Given the description of an element on the screen output the (x, y) to click on. 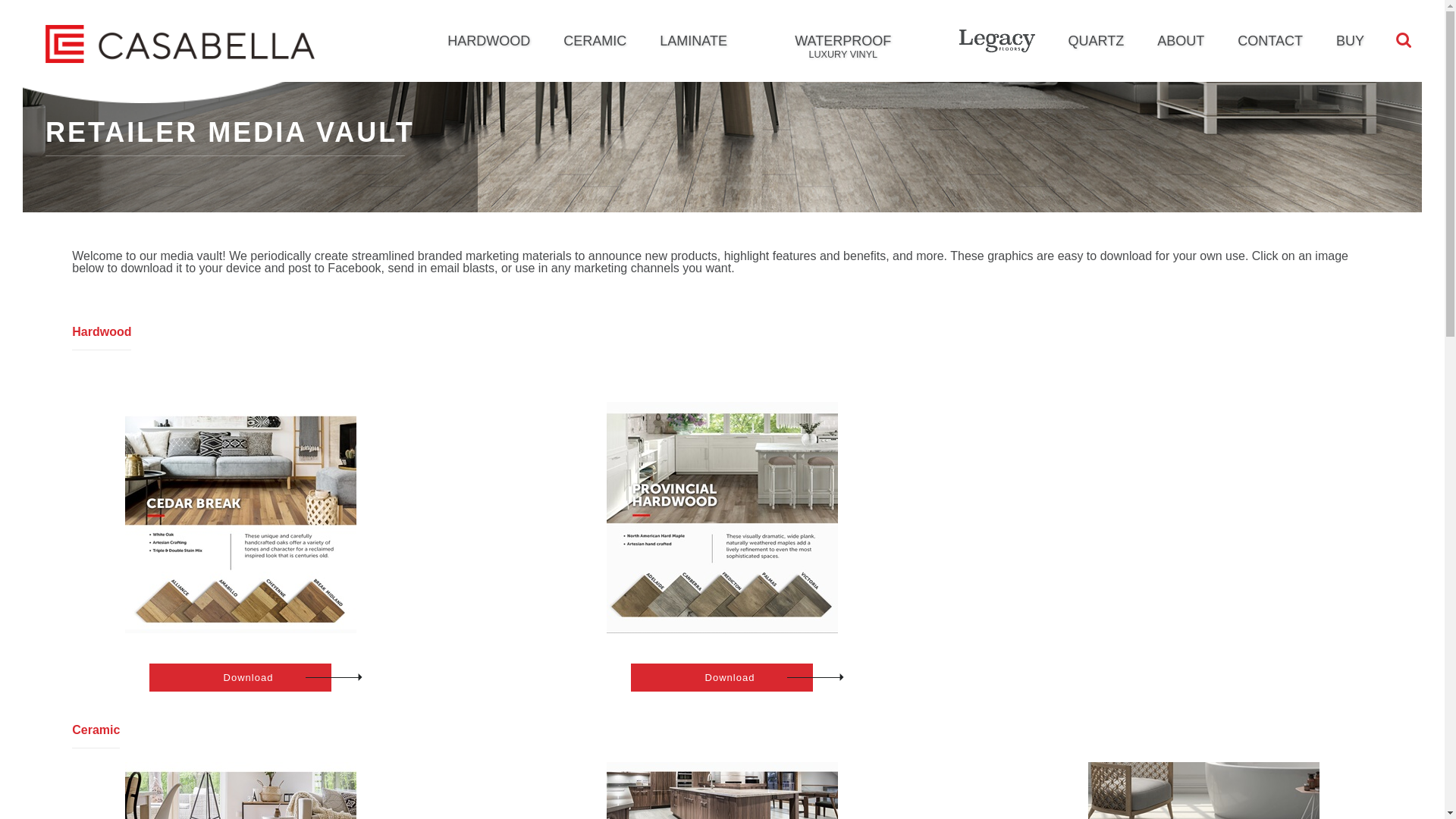
CONTACT (1270, 40)
BUY (1349, 40)
QUARTZ (1096, 40)
LAMINATE (693, 40)
Casabella Floors (180, 43)
ABOUT (1180, 40)
Download (721, 677)
Download (240, 677)
CERAMIC (595, 40)
HARDWOOD (488, 40)
